Given the description of an element on the screen output the (x, y) to click on. 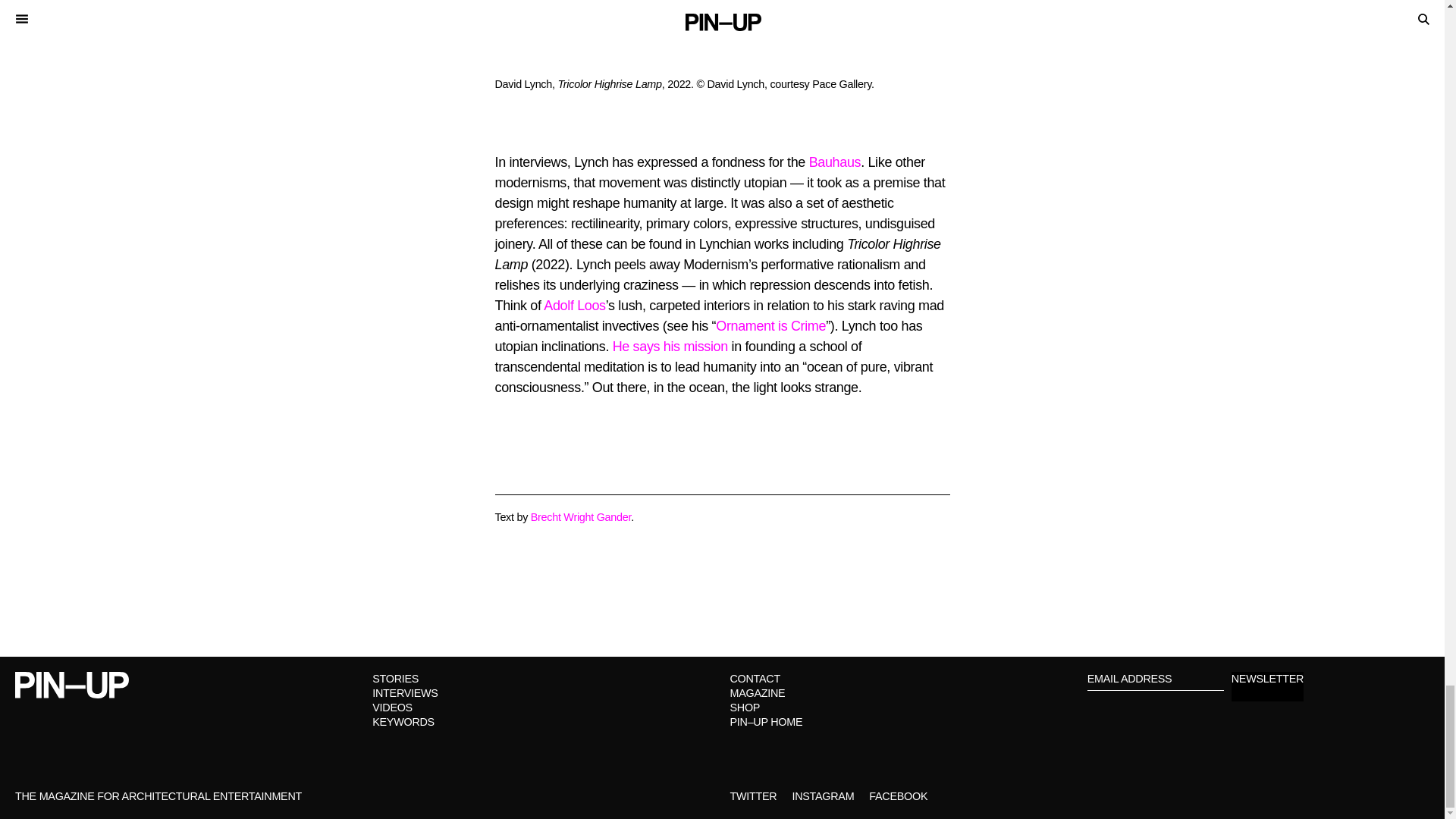
Ornament is Crime (770, 325)
Brecht Wright Gander (580, 517)
CONTACT (753, 678)
Bauhaus (835, 161)
He says his mission (670, 346)
Newsletter (1267, 686)
STORIES (395, 678)
MAGAZINE (756, 693)
SHOP (744, 707)
KEYWORDS (402, 721)
INTERVIEWS (405, 693)
Newsletter (1267, 686)
Adolf Loos (574, 305)
VIDEOS (392, 707)
